Given the description of an element on the screen output the (x, y) to click on. 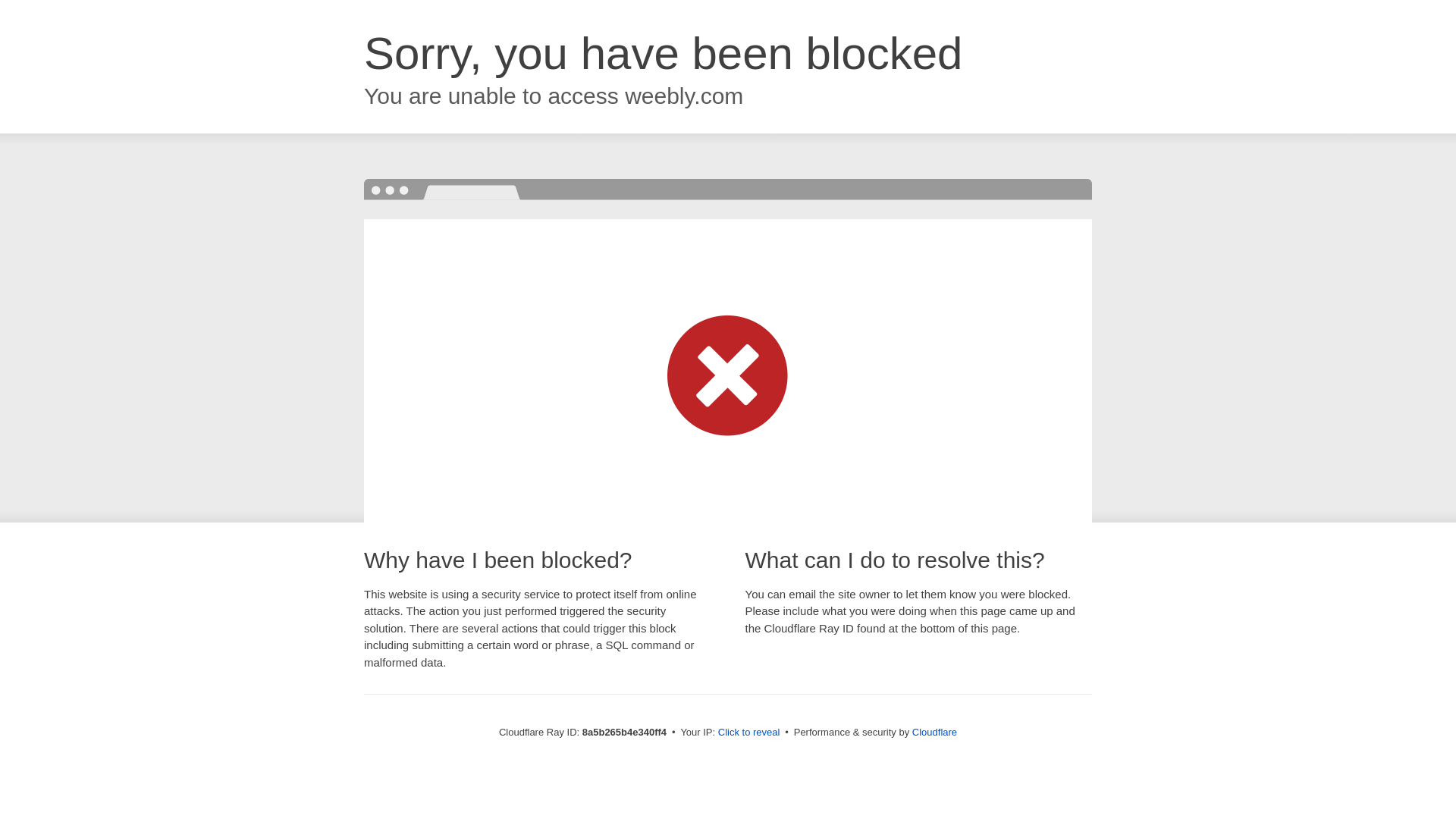
Click to reveal (748, 732)
Cloudflare (934, 731)
